Given the description of an element on the screen output the (x, y) to click on. 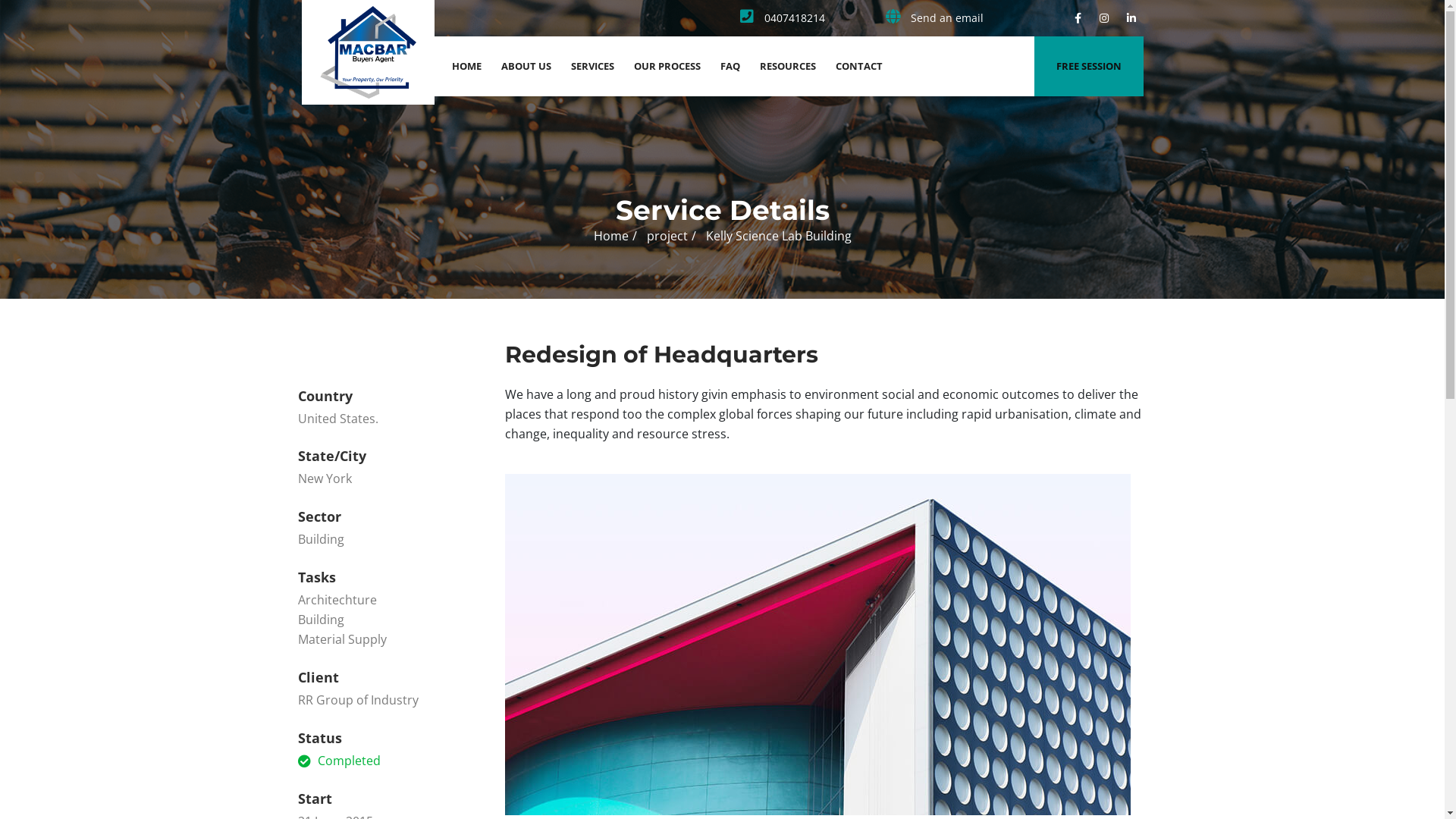
CONTACT Element type: text (858, 65)
Send an email Element type: text (930, 17)
OUR PROCESS Element type: text (666, 65)
RESOURCES Element type: text (787, 65)
FAQ Element type: text (729, 65)
HOME Element type: text (465, 65)
FREE SESSION Element type: text (1087, 65)
Home Element type: text (610, 235)
0407418214 Element type: text (778, 17)
SERVICES Element type: text (592, 65)
ABOUT US Element type: text (526, 65)
